Given the description of an element on the screen output the (x, y) to click on. 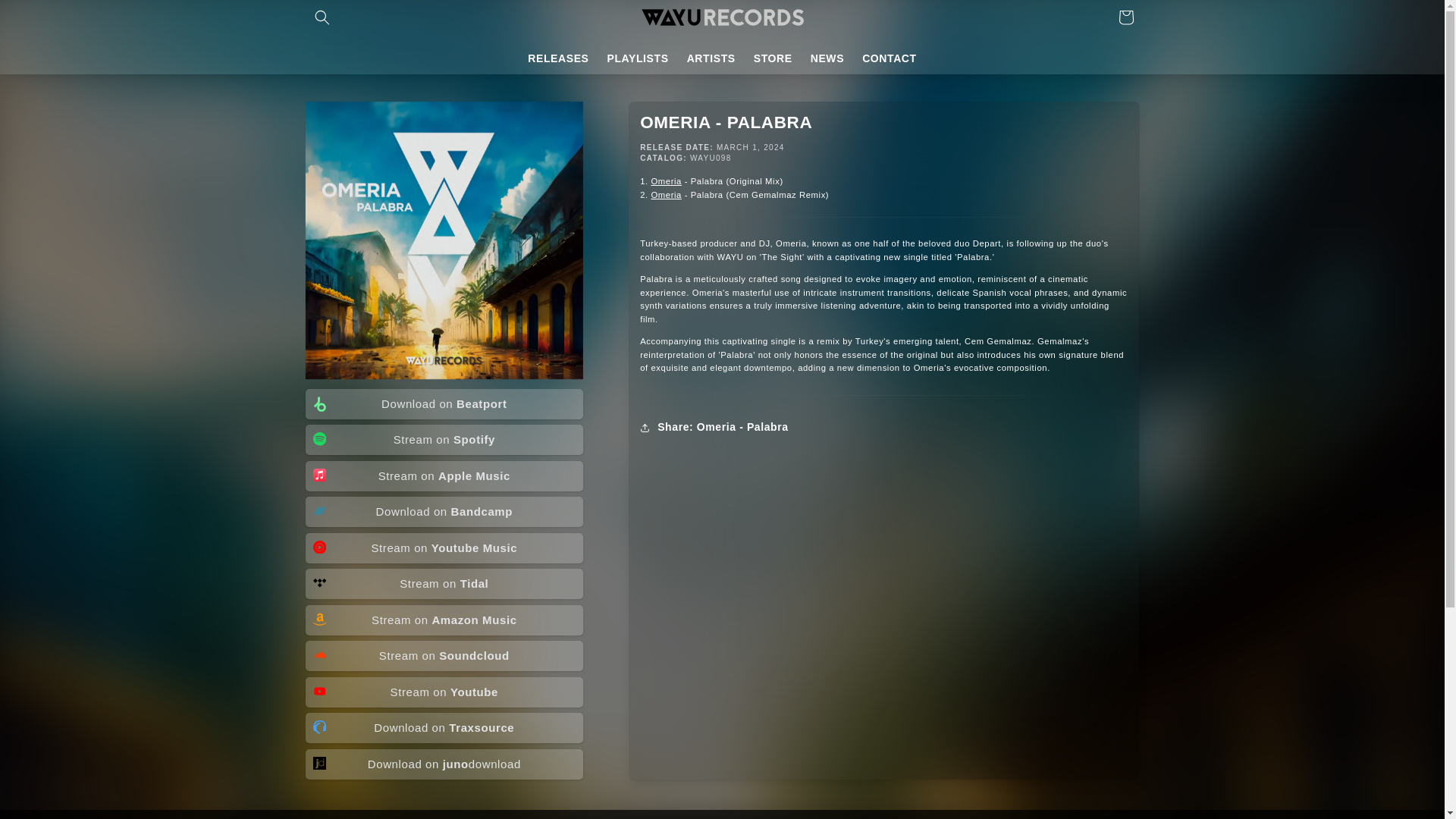
Stream on Spotify (443, 440)
Download on Beatport (443, 404)
ARTISTS (711, 58)
Stream on Amazon Music (443, 620)
CONTACT (889, 58)
STORE (773, 58)
Cart (1124, 16)
Download on Bandcamp (443, 511)
NEWS (827, 58)
Stream on Tidal (443, 583)
Skip to content (45, 17)
Stream on Youtube Music (443, 548)
RELEASES (557, 58)
Stream on Apple Music (443, 476)
PLAYLISTS (638, 58)
